Given the description of an element on the screen output the (x, y) to click on. 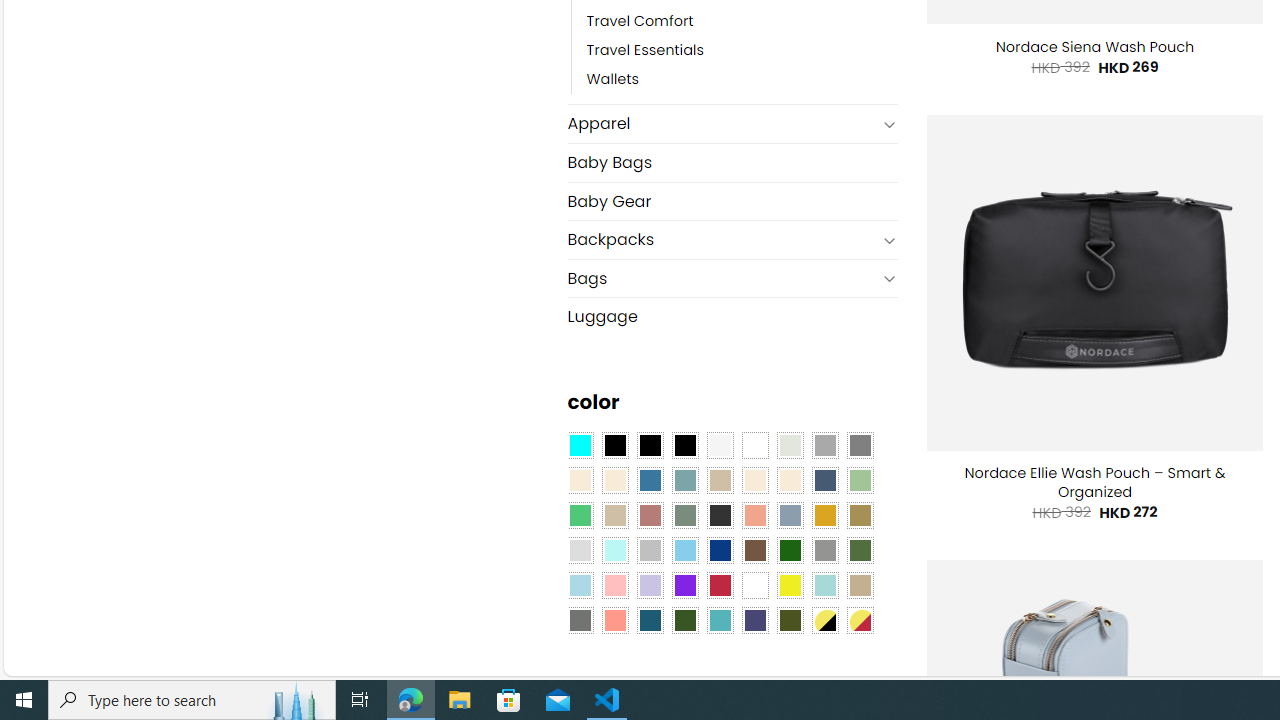
Sky Blue (684, 550)
Mint (614, 550)
Beige-Brown (614, 480)
Baby Gear (732, 200)
Light Purple (650, 584)
Army Green (789, 619)
Luggage (732, 316)
Pink (614, 584)
Ash Gray (789, 444)
Yellow (789, 584)
Dark Green (789, 550)
Apparel (721, 124)
Aqua (824, 584)
